Given the description of an element on the screen output the (x, y) to click on. 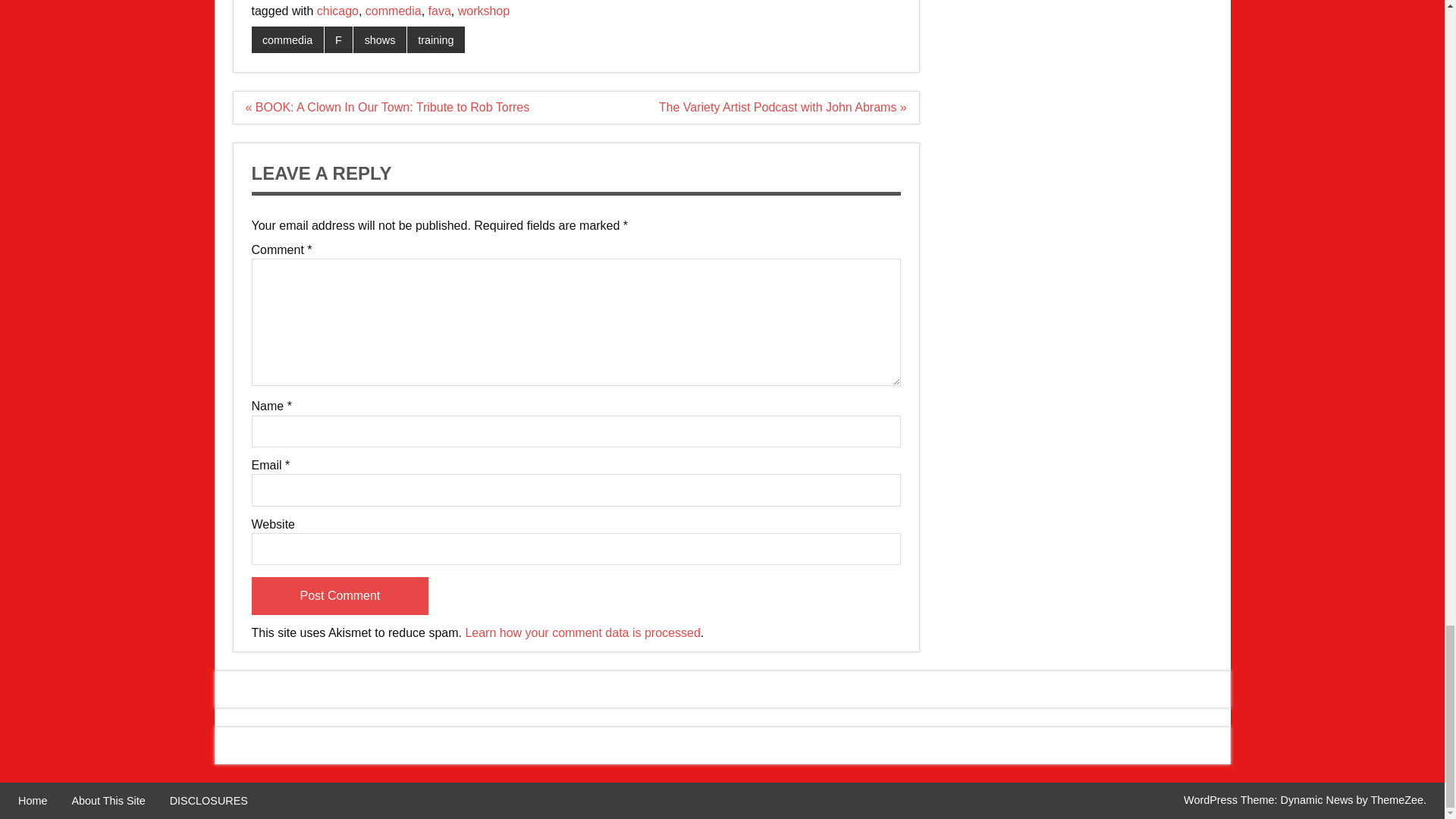
commedia (287, 40)
F (338, 40)
commedia (393, 10)
workshop (483, 10)
fava (439, 10)
chicago (337, 10)
Post Comment (340, 596)
Post Comment (340, 596)
training (435, 40)
shows (379, 40)
